Given the description of an element on the screen output the (x, y) to click on. 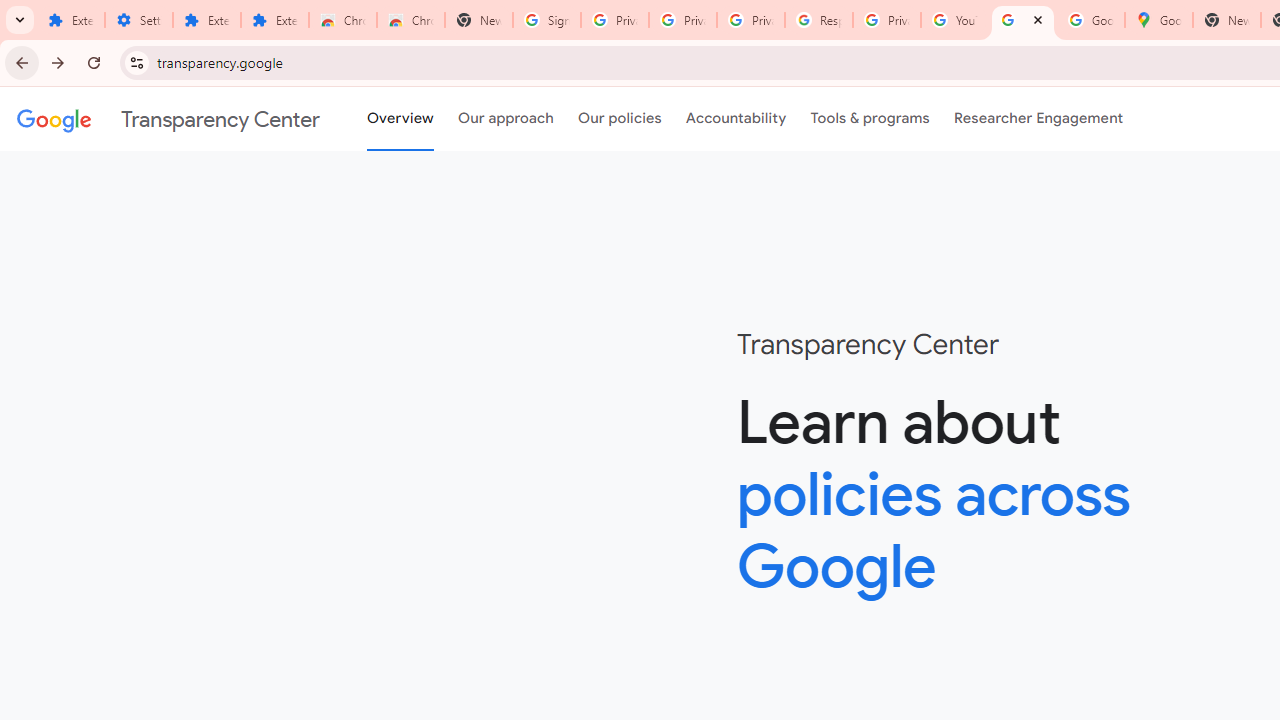
Chrome Web Store - Themes (411, 20)
New Tab (479, 20)
Researcher Engagement (1038, 119)
Extensions (70, 20)
Accountability (735, 119)
Our approach (506, 119)
Transparency Center (167, 119)
Extensions (206, 20)
